Given the description of an element on the screen output the (x, y) to click on. 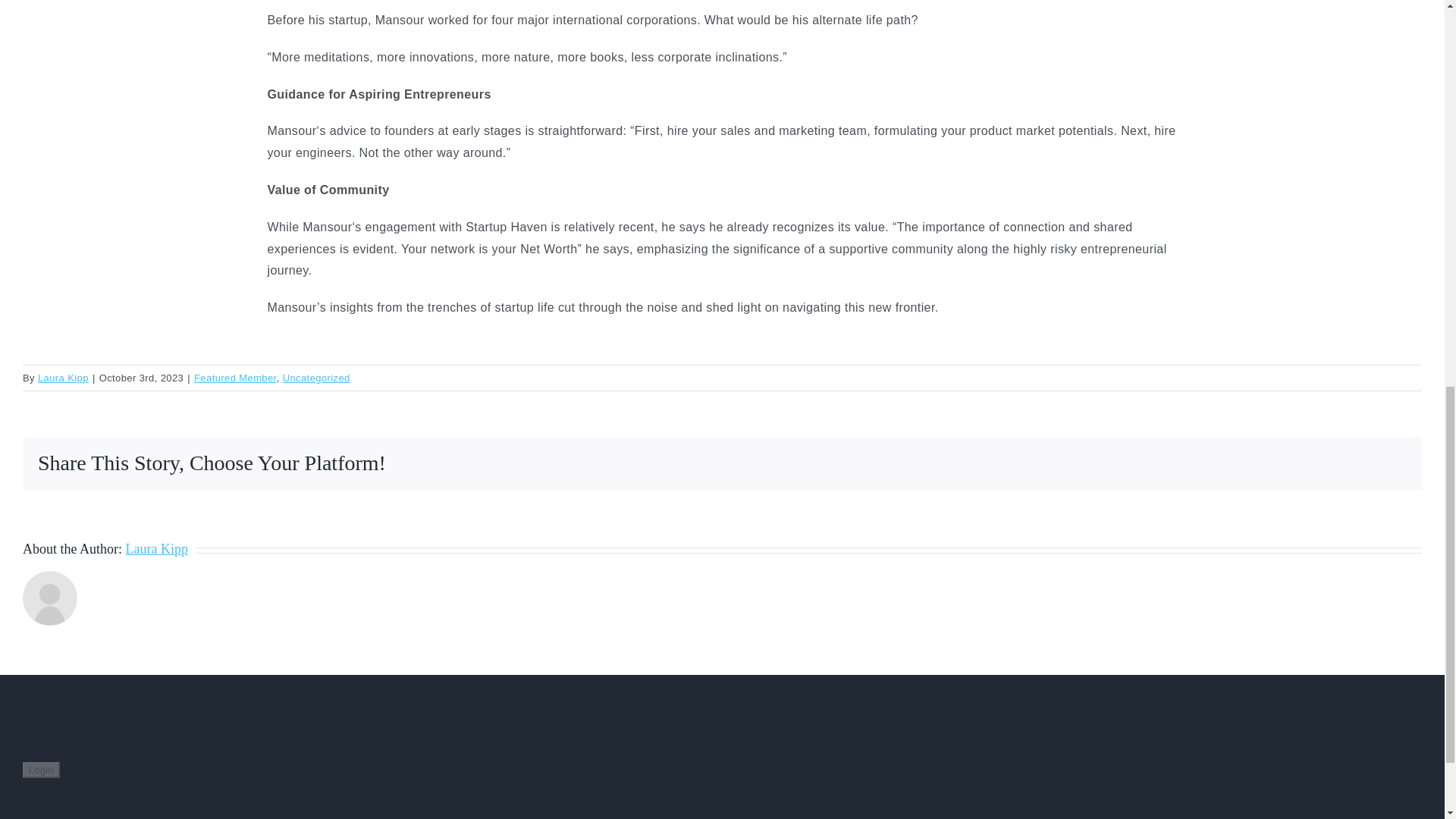
Posts by Laura Kipp (62, 378)
Login (41, 770)
Posts by Laura Kipp (156, 548)
Login (41, 770)
